Given the description of an element on the screen output the (x, y) to click on. 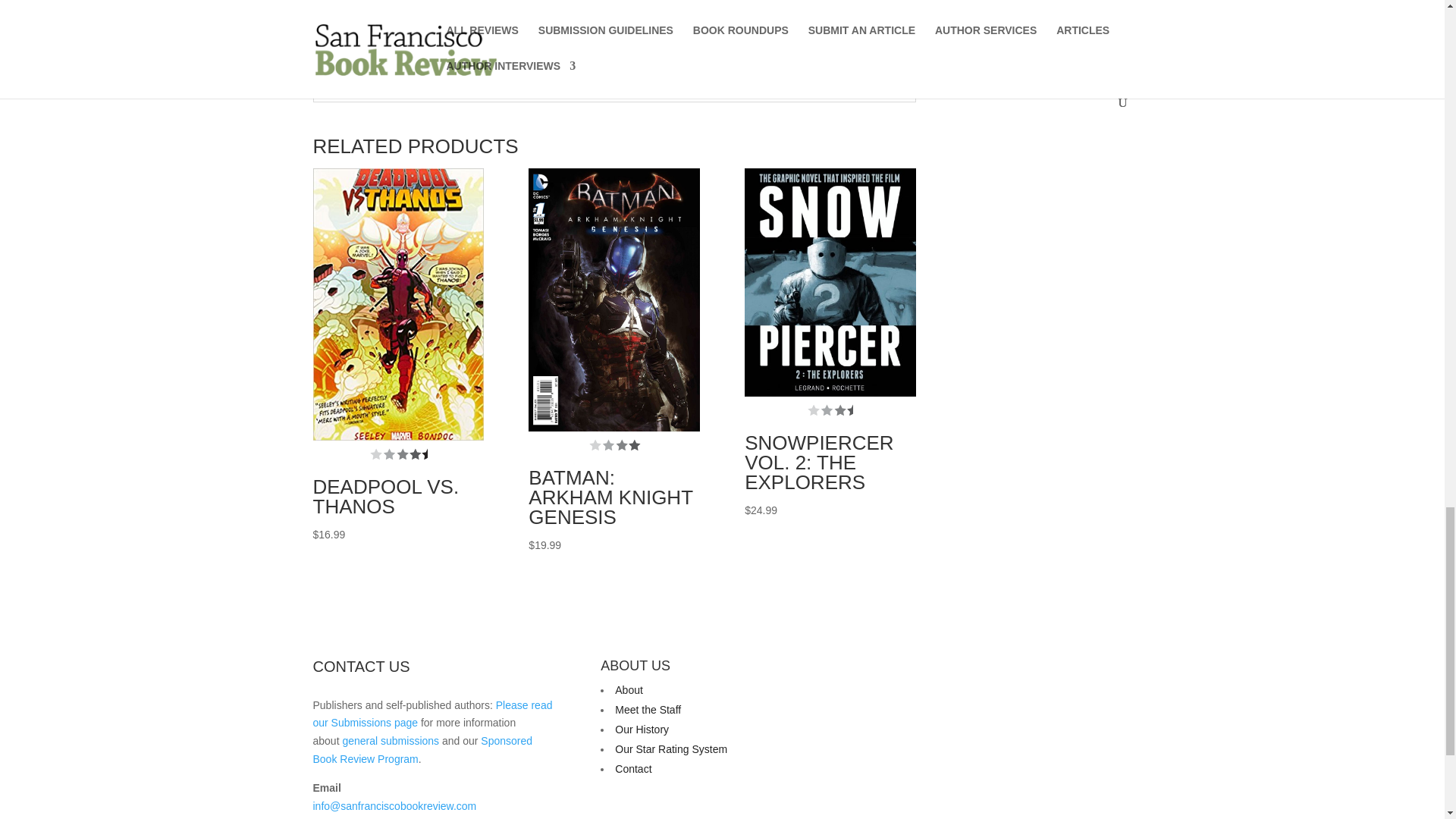
general submissions (390, 740)
Please read our Submissions page (432, 714)
Sponsored Book Review Program (422, 749)
Submit (845, 37)
Submit (845, 37)
About (628, 689)
Learn how your comment data is processed (625, 69)
Meet the Staff (647, 709)
